Given the description of an element on the screen output the (x, y) to click on. 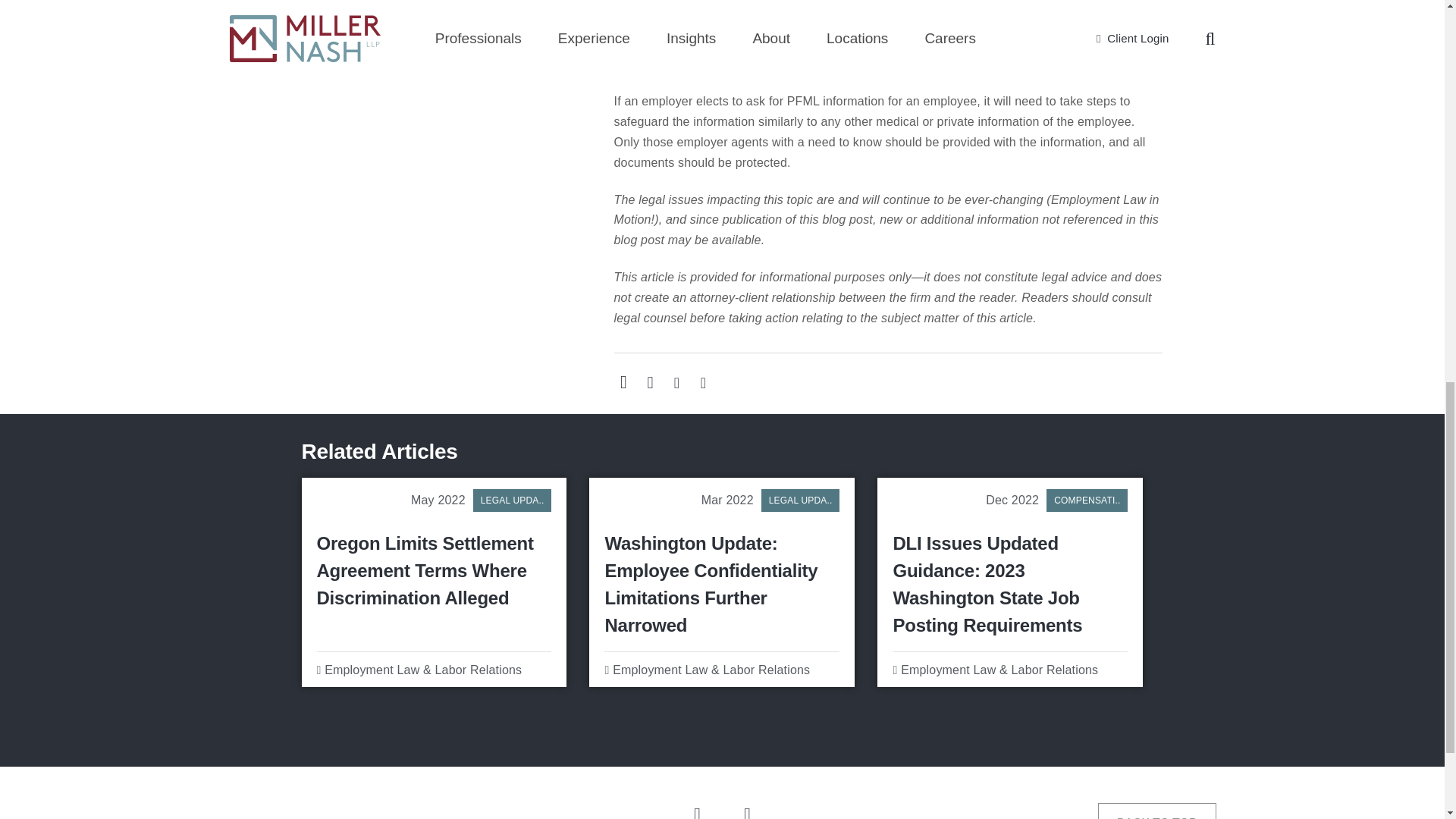
Share via LinkedIn (675, 381)
Share via Twitter (702, 381)
Share via Email (623, 381)
More Sharing Options (649, 381)
